Given the description of an element on the screen output the (x, y) to click on. 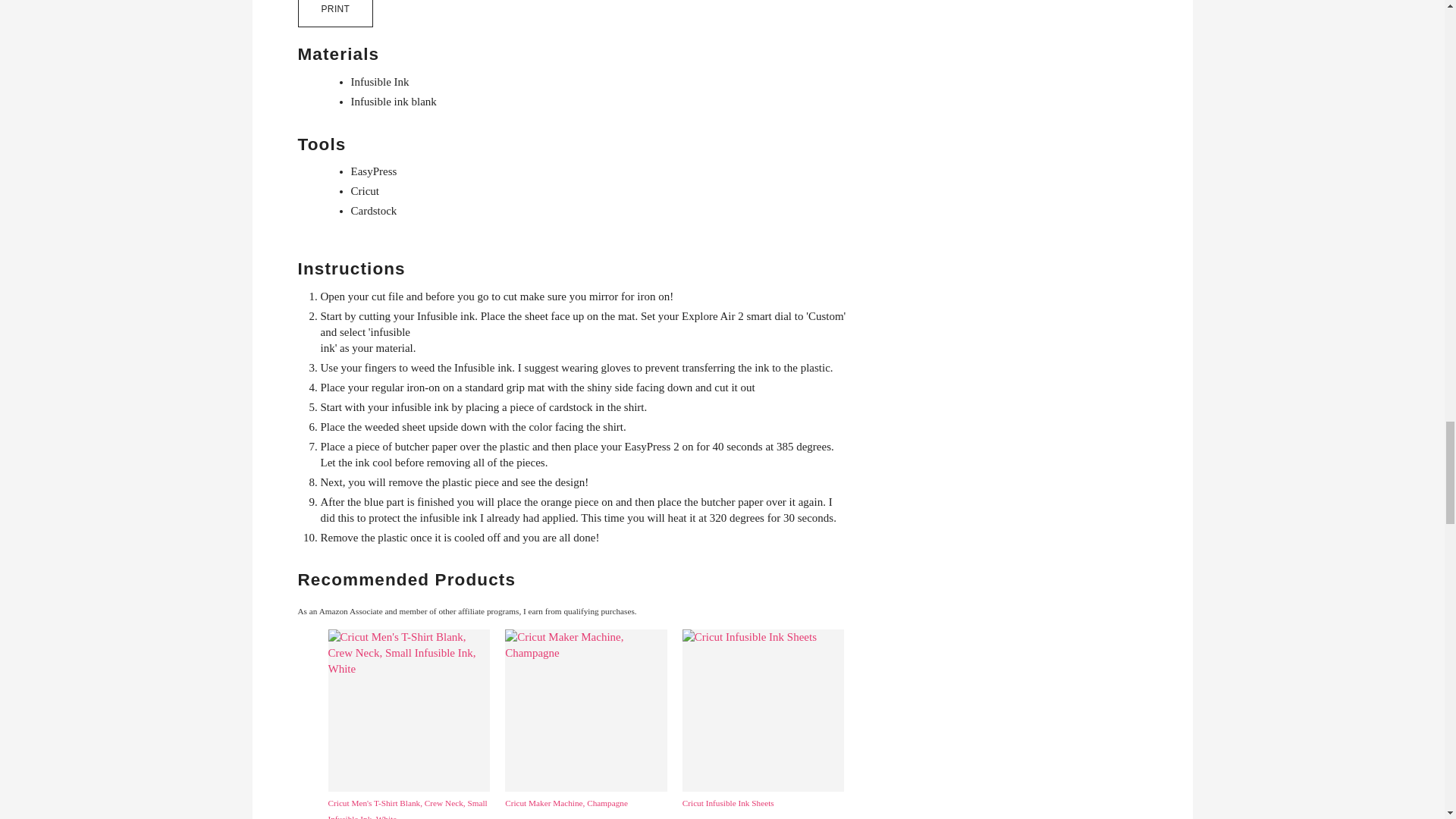
PRINT (334, 13)
Cricut Maker Machine, Champagne (585, 720)
